Given the description of an element on the screen output the (x, y) to click on. 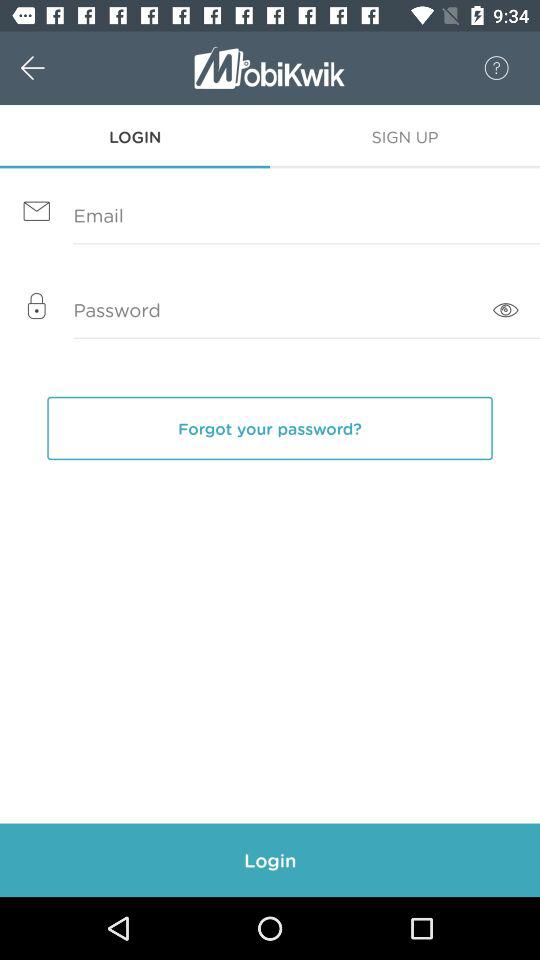
flip to forgot your password? (269, 428)
